Given the description of an element on the screen output the (x, y) to click on. 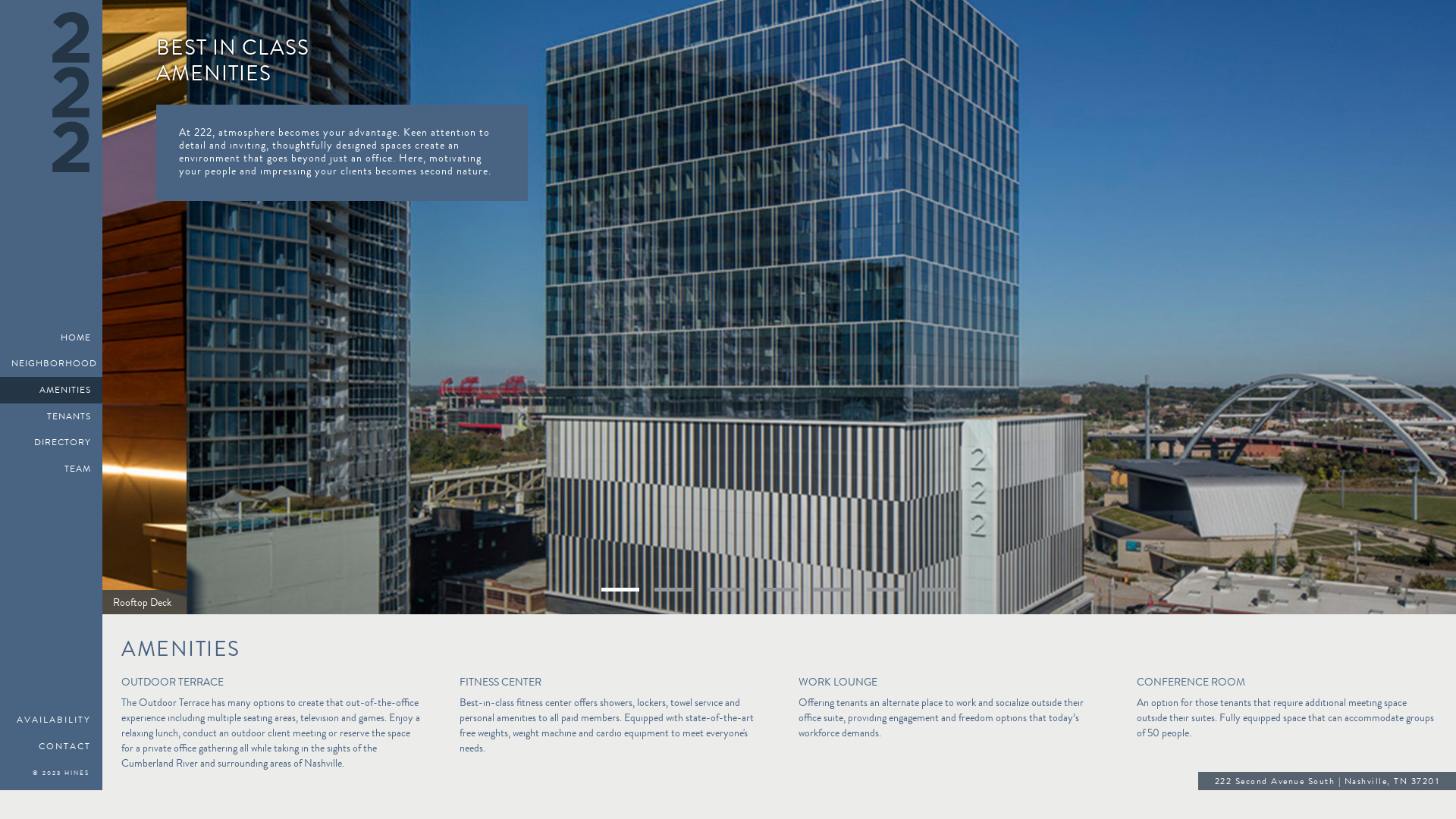
NEIGHBORHOOD Element type: text (51, 363)
222 Second Avenue South | Nashville, TN 37201 Element type: text (1327, 782)
TENANTS Element type: text (51, 416)
CONTACT Element type: text (51, 746)
TEAM Element type: text (51, 468)
DIRECTORY Element type: text (51, 442)
HOME Element type: text (51, 337)
AVAILABILITY Element type: text (51, 719)
AMENITIES Element type: text (51, 389)
